Given the description of an element on the screen output the (x, y) to click on. 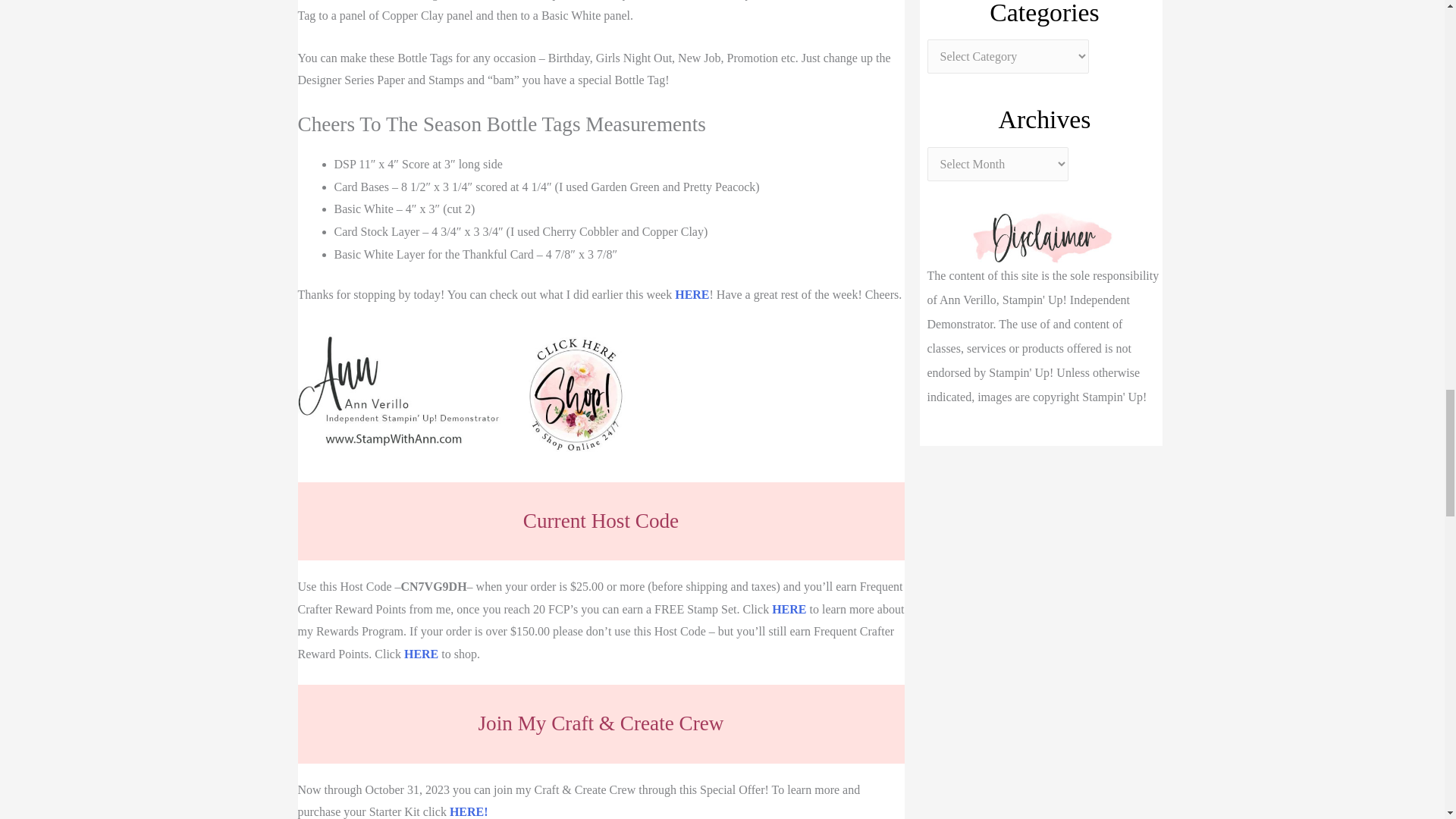
HER (784, 608)
HER (417, 653)
HERE (466, 811)
ERE (697, 294)
